Given the description of an element on the screen output the (x, y) to click on. 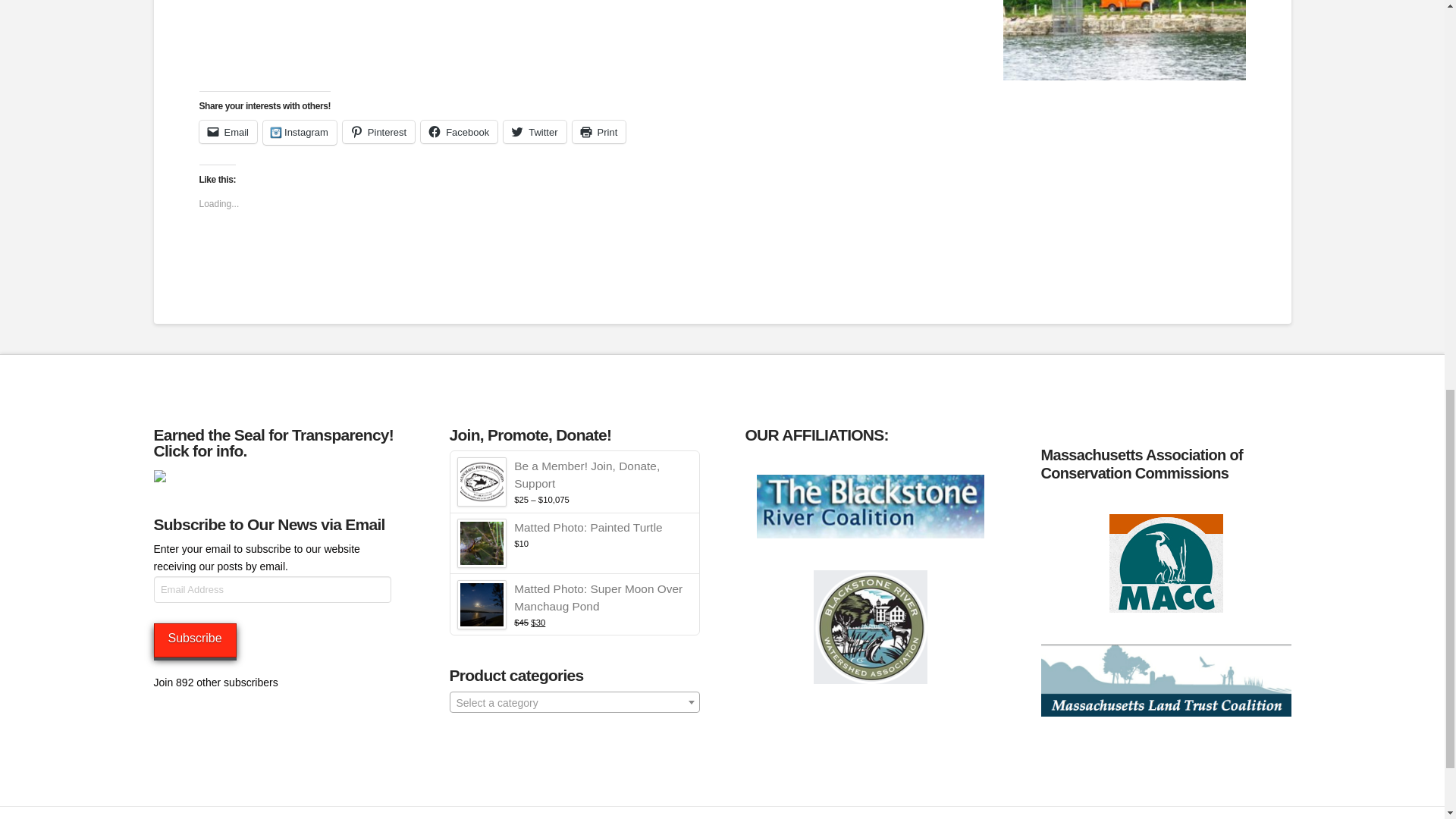
Click to share on Instagram (299, 132)
Click to print (599, 131)
Click to email a link to a friend (227, 131)
Click to share on Facebook (458, 131)
Click to share on Twitter (534, 131)
Click to share on Pinterest (378, 131)
